Given the description of an element on the screen output the (x, y) to click on. 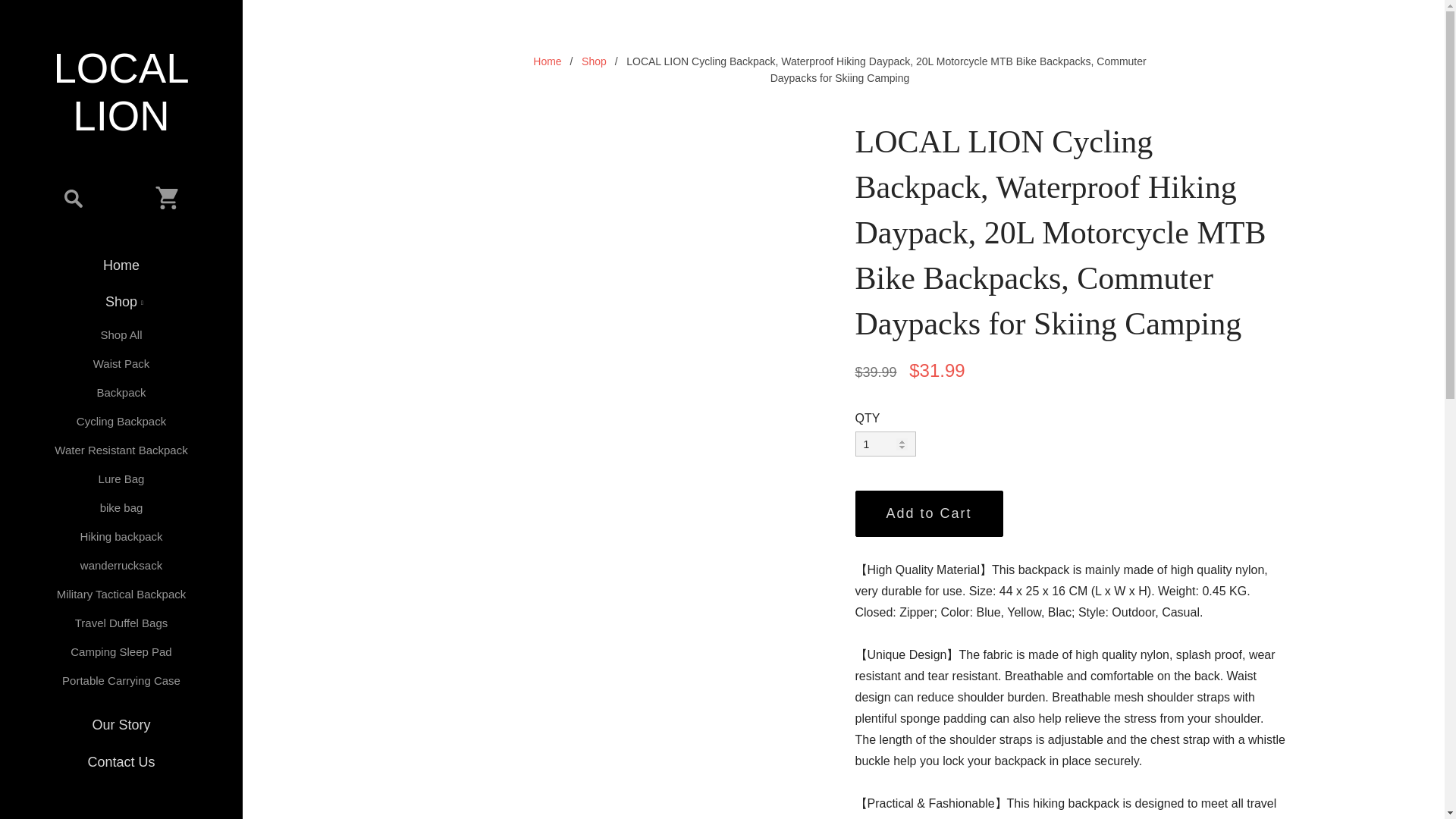
Home (121, 265)
LOCAL LION (120, 92)
Shop All (121, 335)
Portable Carrying Case (121, 680)
bike bag (122, 507)
Shop (593, 61)
1 (885, 443)
Camping Sleep Pad (120, 652)
Water Resistant Backpack (120, 450)
Our Story (120, 724)
Add to Cart (929, 513)
wanderrucksack (121, 565)
Home (546, 61)
Military Tactical Backpack (121, 594)
Waist Pack (121, 363)
